Given the description of an element on the screen output the (x, y) to click on. 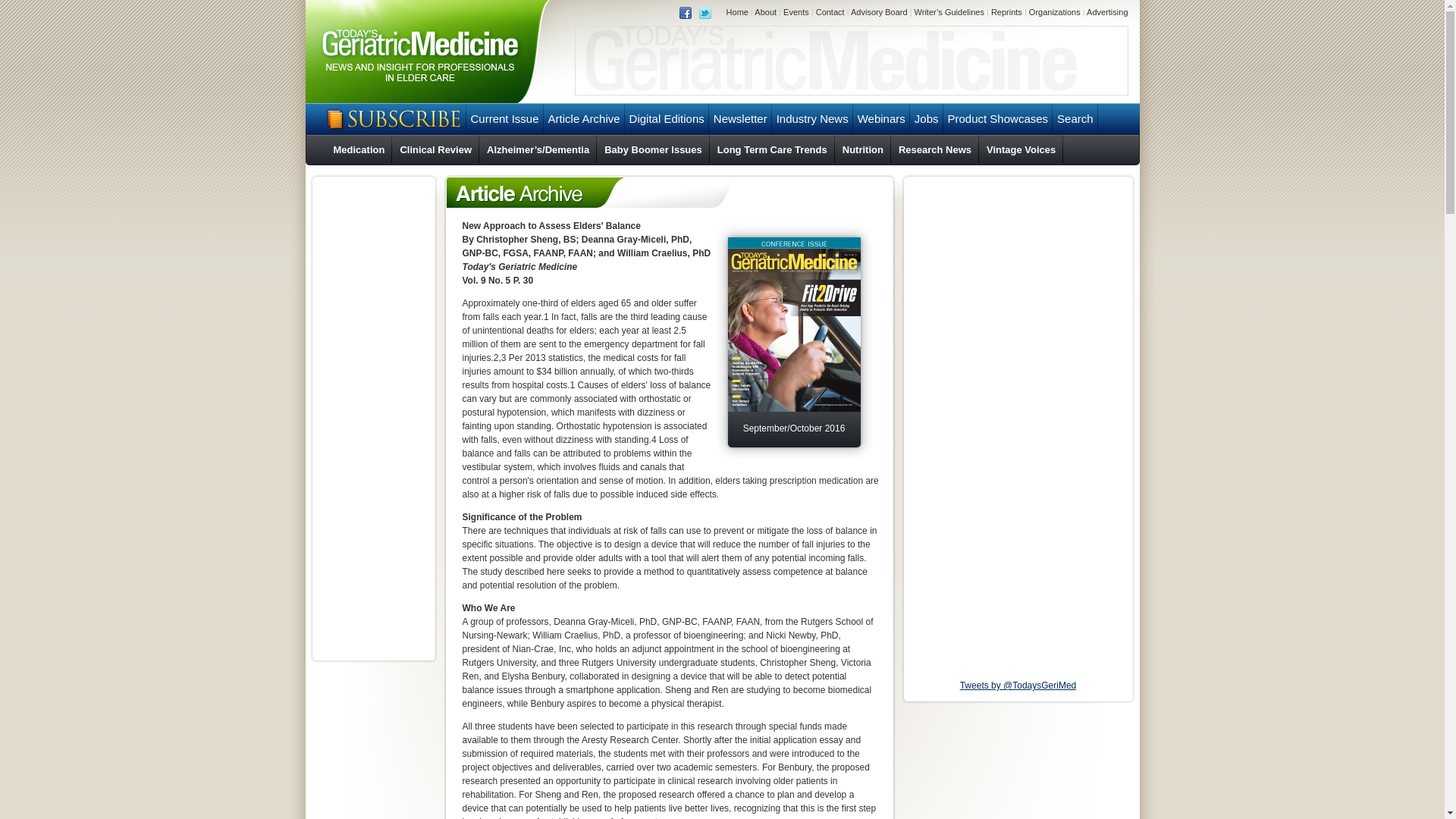
3rd party ad content (373, 418)
Product Showcases (997, 118)
3rd party ad content (850, 60)
Newsletter (740, 118)
3rd party ad content (1017, 228)
Organizations (1054, 11)
Nutrition (862, 152)
Long Term Care Trends (772, 152)
Advertising (1106, 11)
Clinical Review (435, 152)
3rd party ad content (1017, 372)
Home (737, 11)
Industry News (812, 118)
Research News (934, 152)
Digital Editions (666, 118)
